Given the description of an element on the screen output the (x, y) to click on. 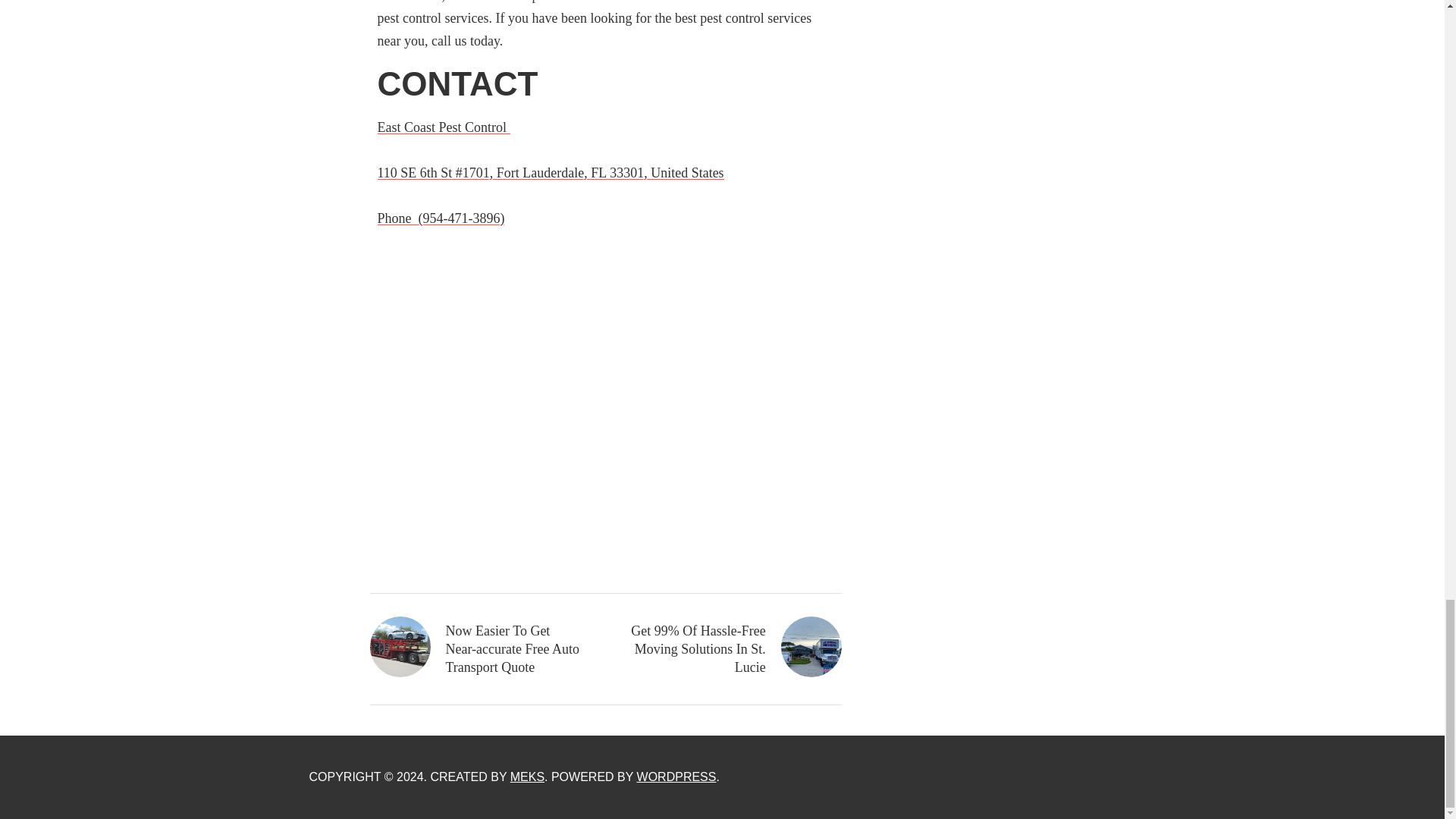
Now Easier To Get Near-accurate Free Auto Transport Quote (476, 648)
MEKS (527, 776)
East Coast Pest Control  (444, 127)
WORDPRESS (676, 776)
